Given the description of an element on the screen output the (x, y) to click on. 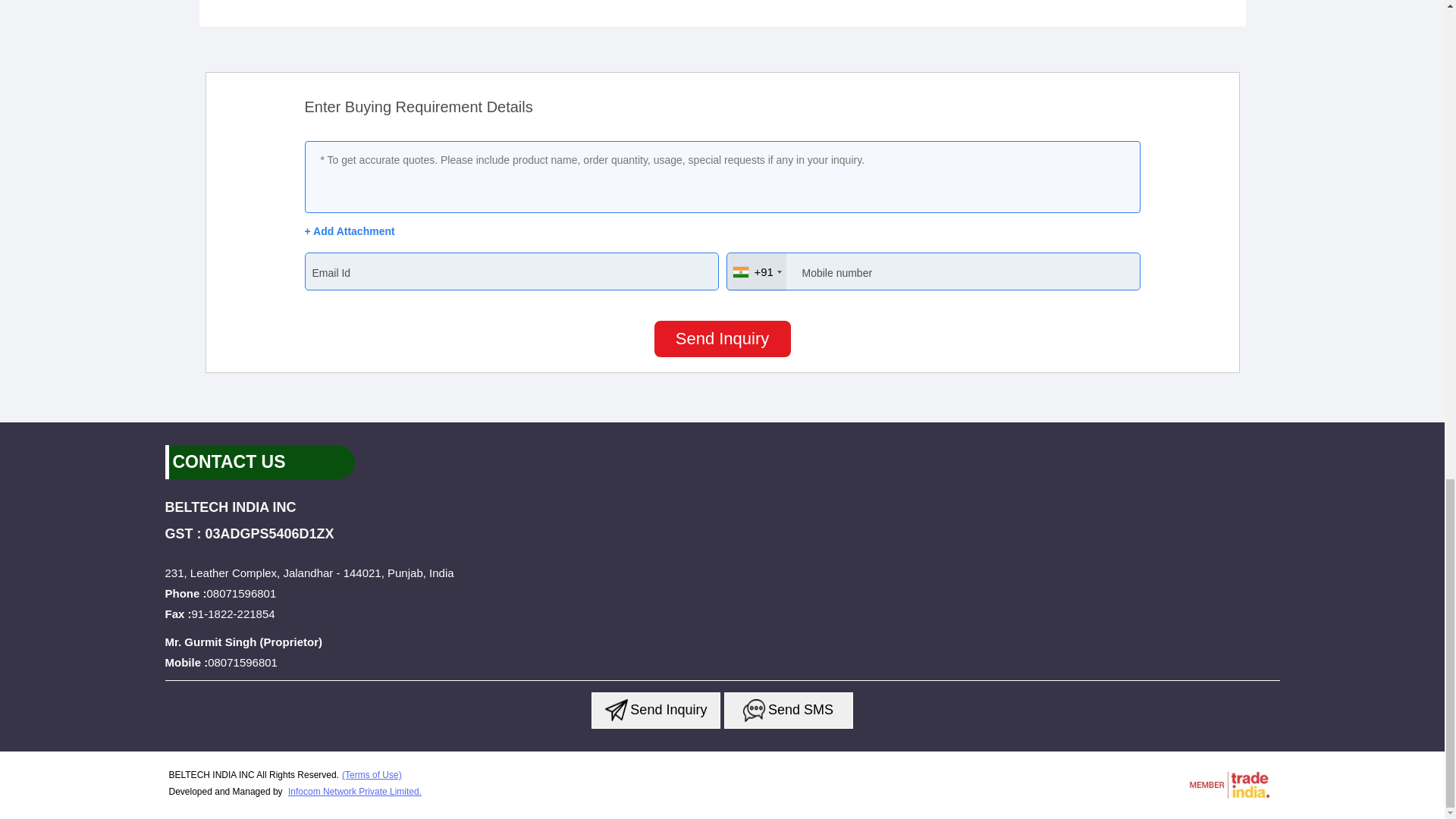
Send Inquiry (655, 709)
Send Inquiry (753, 710)
Send SMS (788, 709)
Send Inquiry (616, 710)
Send Inquiry (721, 339)
Infocom Network Private Limited. (355, 791)
